Given the description of an element on the screen output the (x, y) to click on. 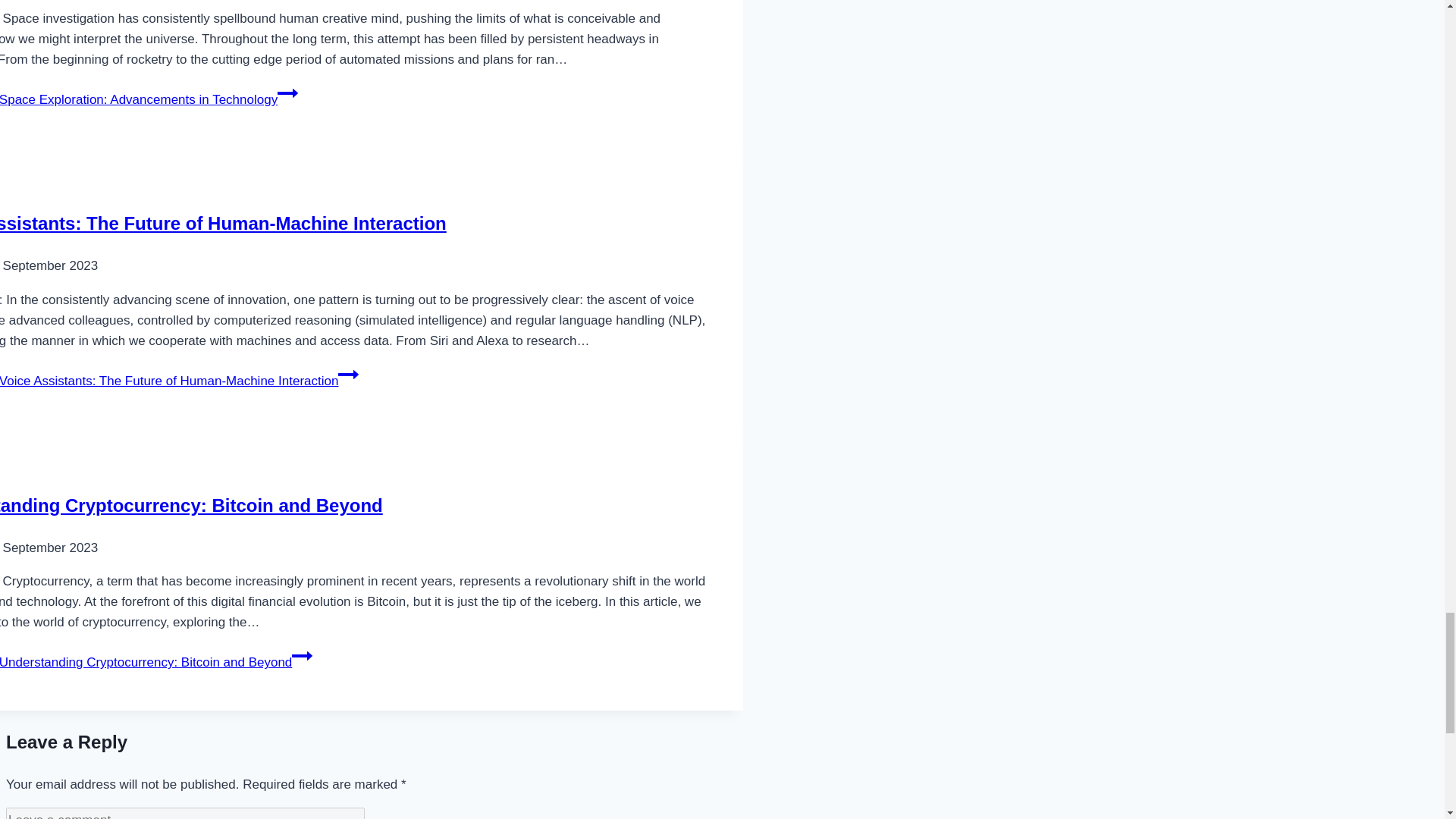
Continue (302, 655)
Voice Assistants: The Future of Human-Machine Interaction (223, 222)
Understanding Cryptocurrency: Bitcoin and Beyond (191, 505)
Continue (347, 373)
Continue (288, 93)
